Given the description of an element on the screen output the (x, y) to click on. 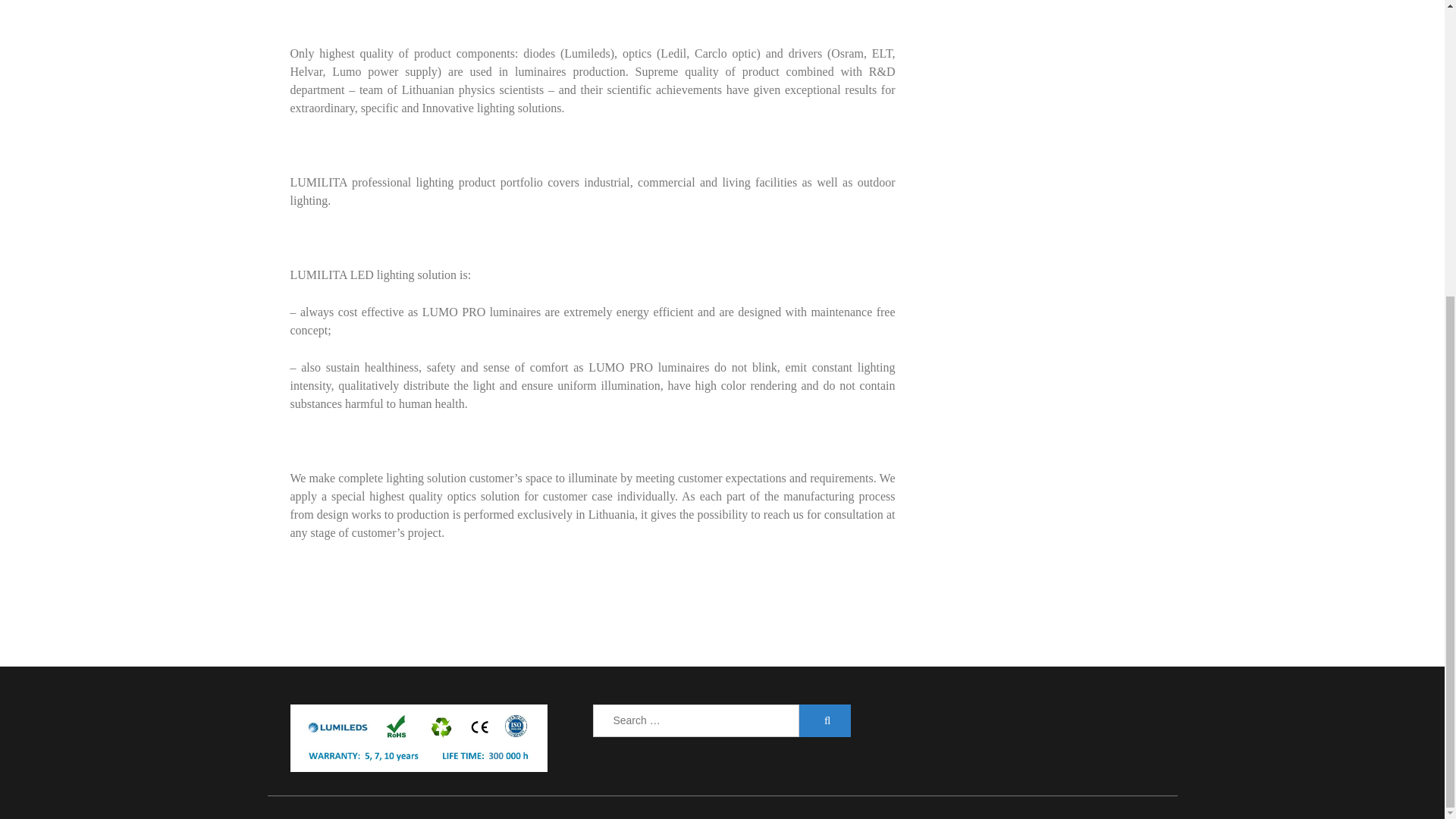
Search (824, 720)
Search (824, 720)
Search (824, 720)
